Given the description of an element on the screen output the (x, y) to click on. 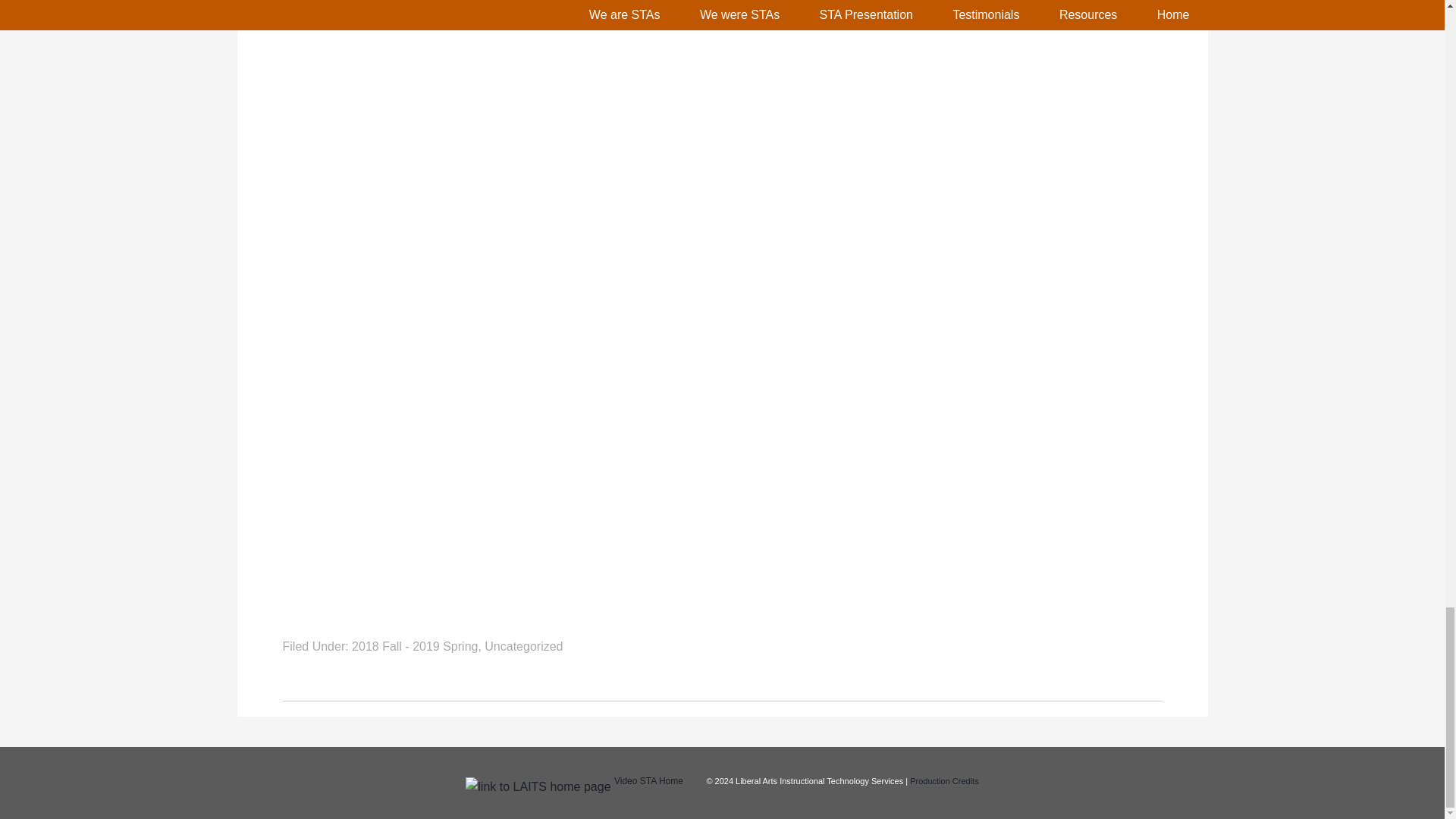
Video STA Home (648, 780)
Uncategorized (523, 645)
2018 Fall - 2019 Spring (414, 645)
Production Credits (944, 780)
